Given the description of an element on the screen output the (x, y) to click on. 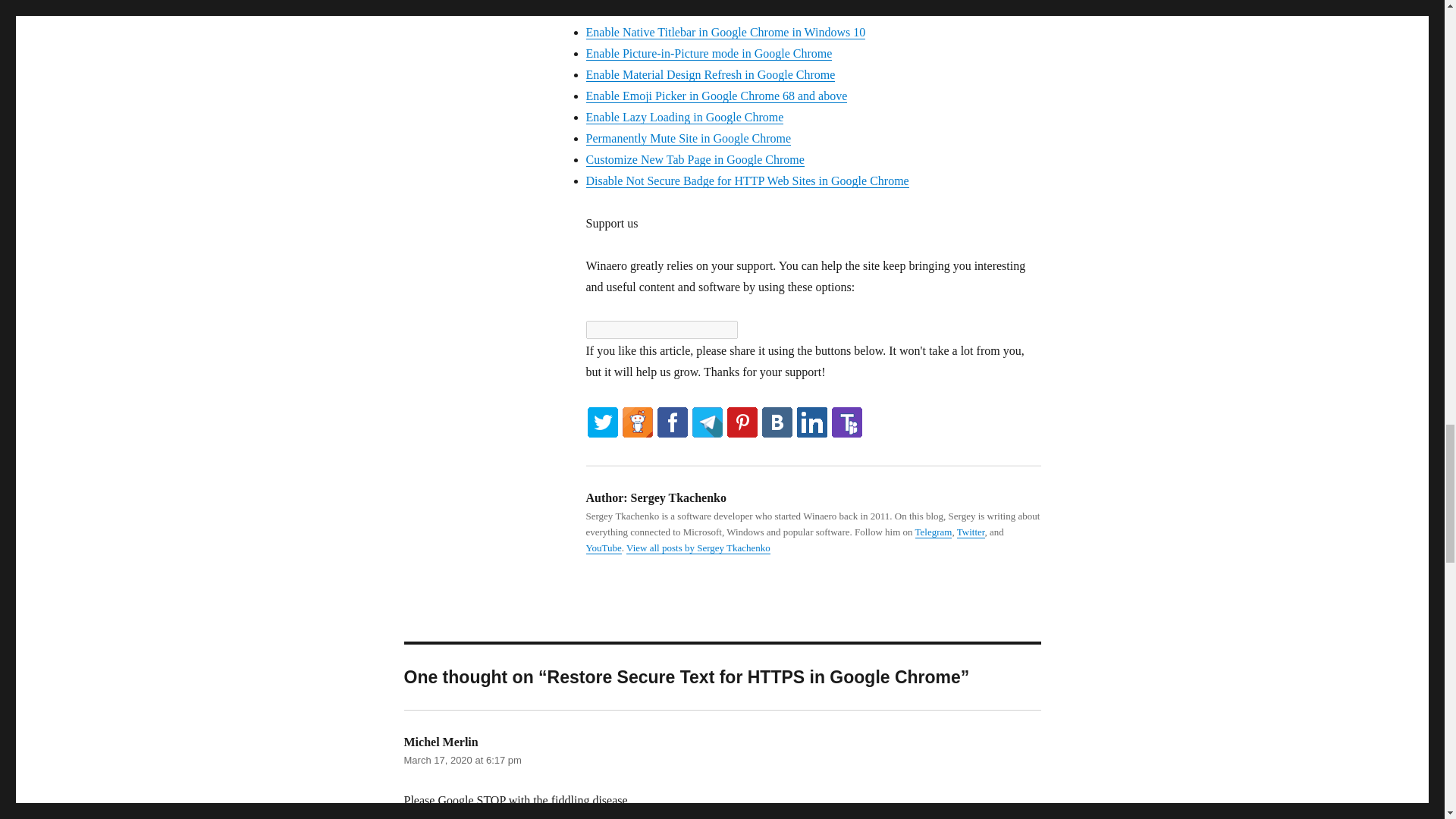
Telegram (933, 531)
Enable Material Design Refresh in Google Chrome (709, 74)
Customize New Tab Page in Google Chrome (694, 159)
Enable Emoji Picker in Google Chrome 68 and above (716, 95)
YouTube (603, 547)
View all posts by Sergey Tkachenko (698, 547)
Disable Not Secure Badge for HTTP Web Sites in Google Chrome (746, 180)
Twitter (970, 531)
March 17, 2020 at 6:17 pm (462, 759)
Enable Lazy Loading in Google Chrome (684, 116)
